Given the description of an element on the screen output the (x, y) to click on. 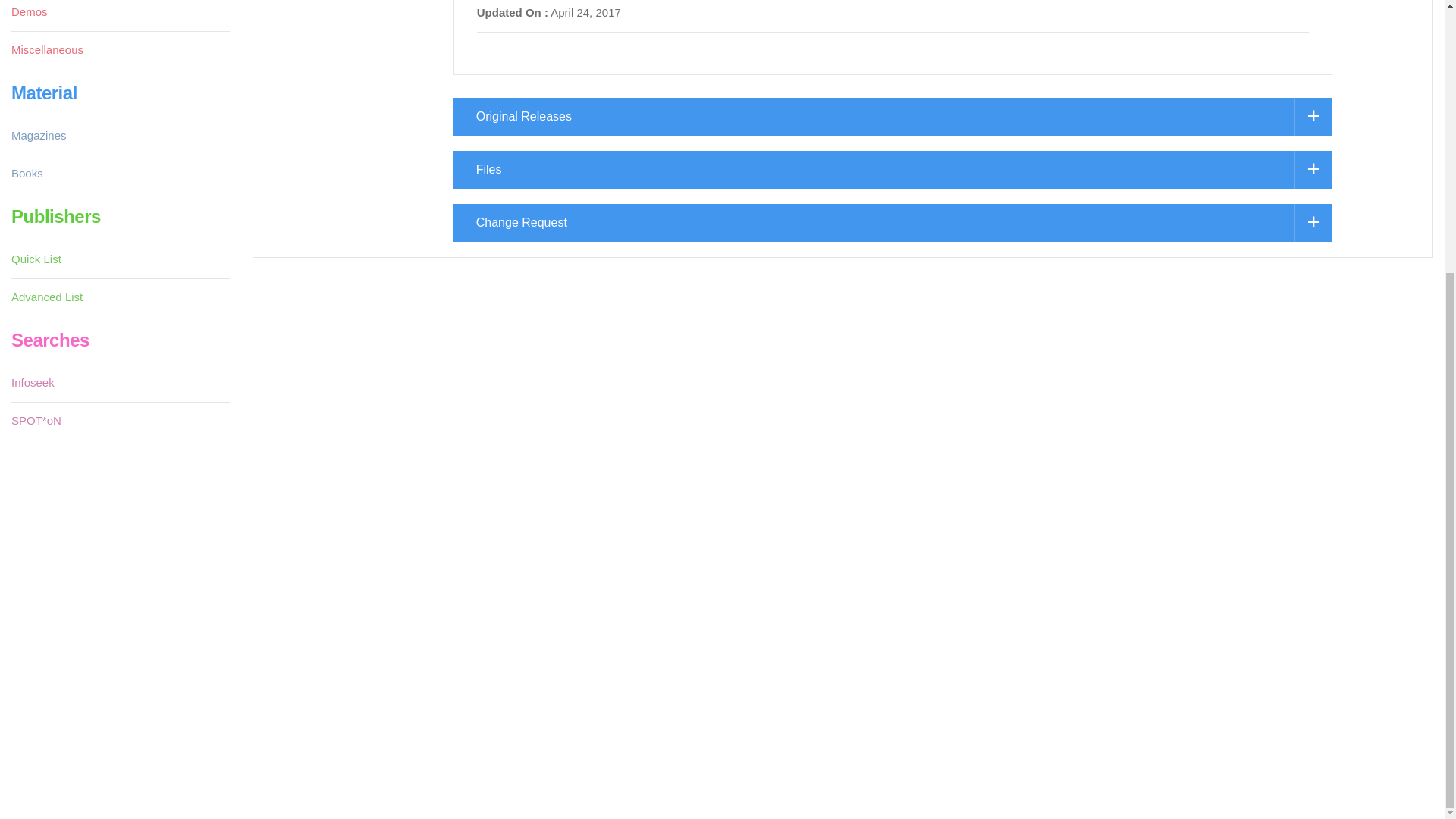
Change Request (892, 222)
Original Releases (892, 116)
Files (892, 169)
